Given the description of an element on the screen output the (x, y) to click on. 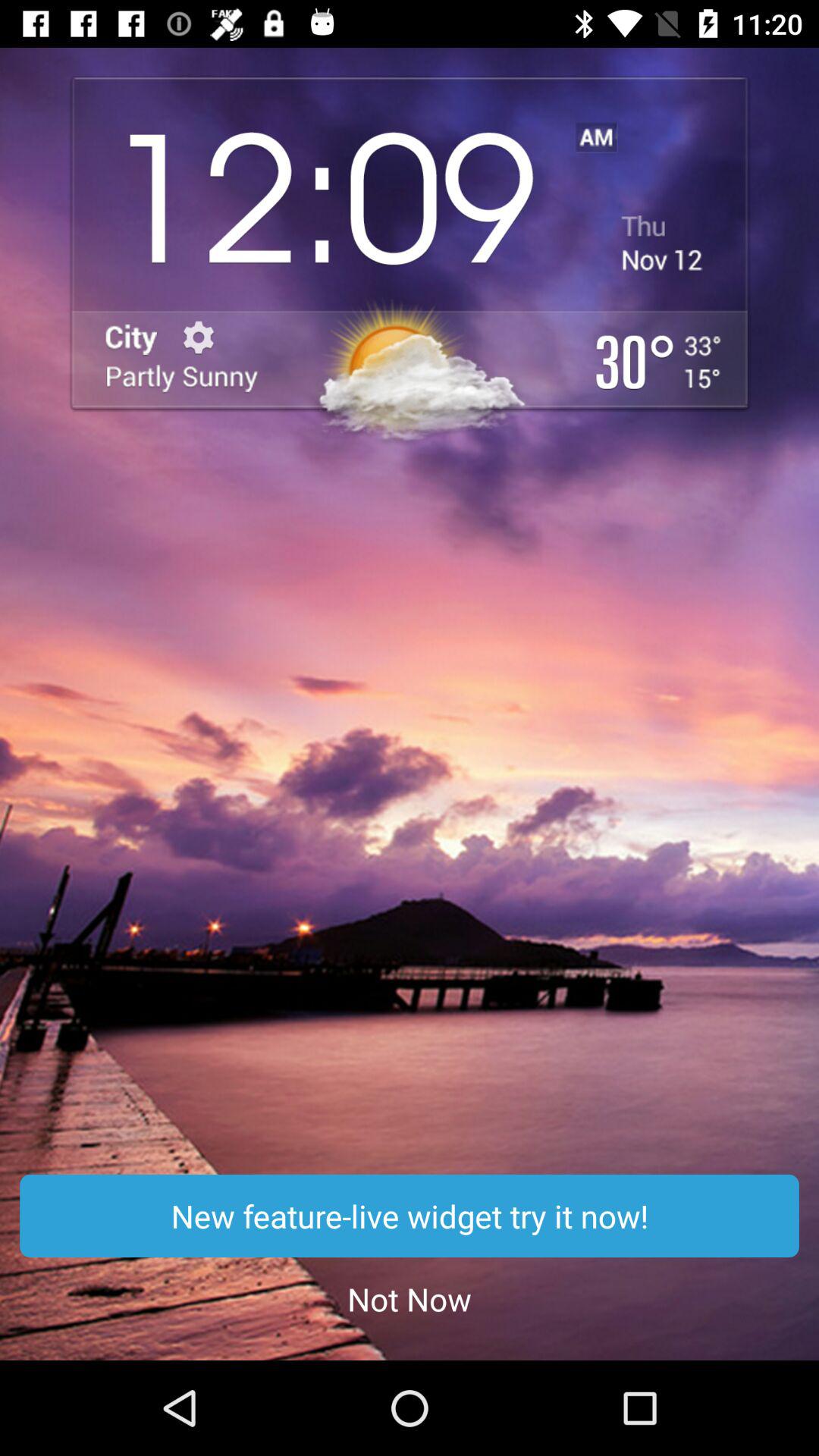
open the not now item (409, 1298)
